Given the description of an element on the screen output the (x, y) to click on. 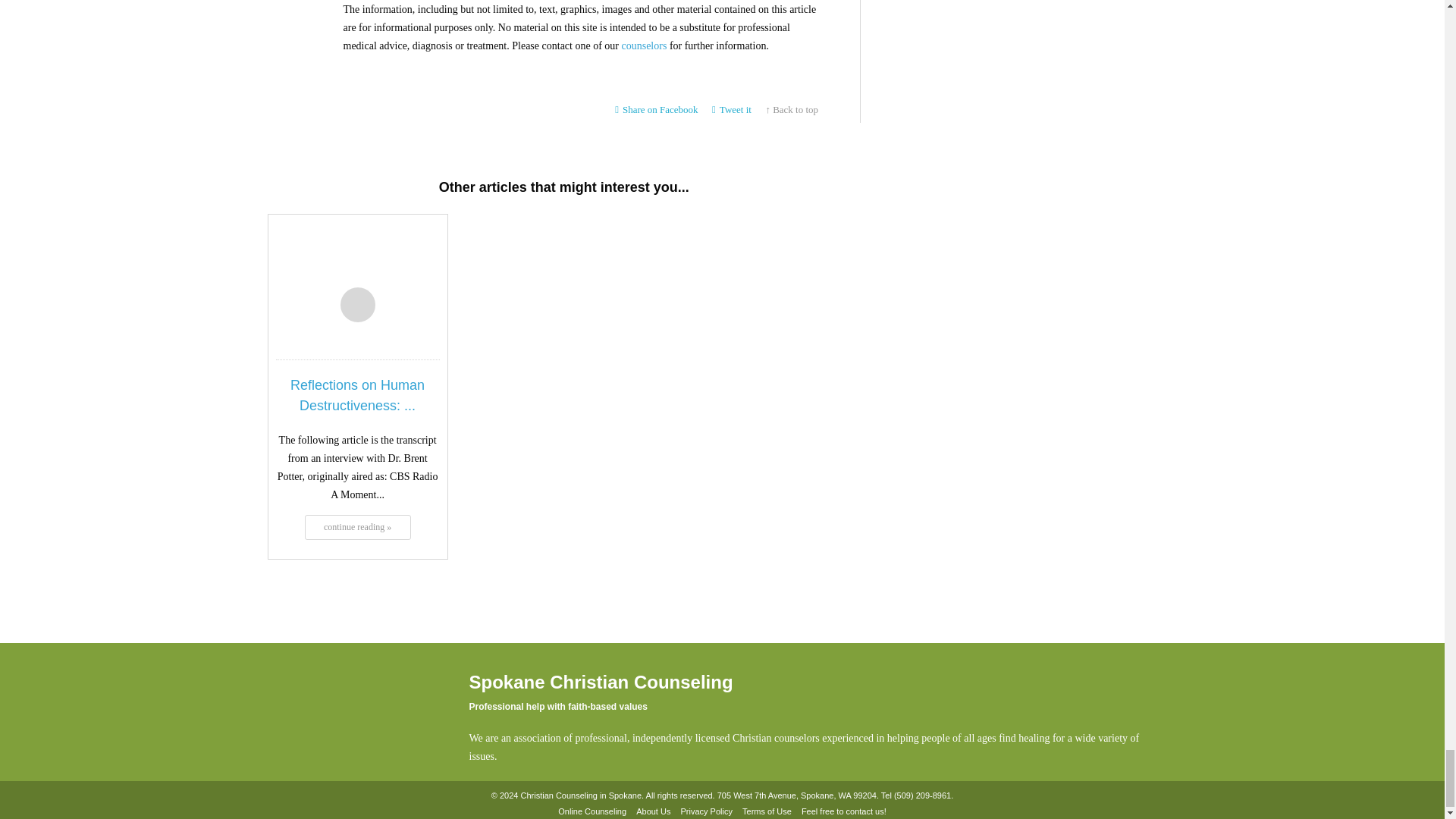
Go back to top (791, 109)
Spokane Christian Counseling (342, 712)
Reflections on Human Destructiveness: An Interview (356, 261)
Tweet it (731, 109)
Contact our Spokane office  (921, 795)
Reflections on Human Destructiveness: An Interview (357, 395)
Share on Facebook (656, 109)
Spokane Christian Counseling (342, 715)
Reflections on Human Destructiveness: An Interview (357, 526)
Feel free to contact us! (843, 811)
